Given the description of an element on the screen output the (x, y) to click on. 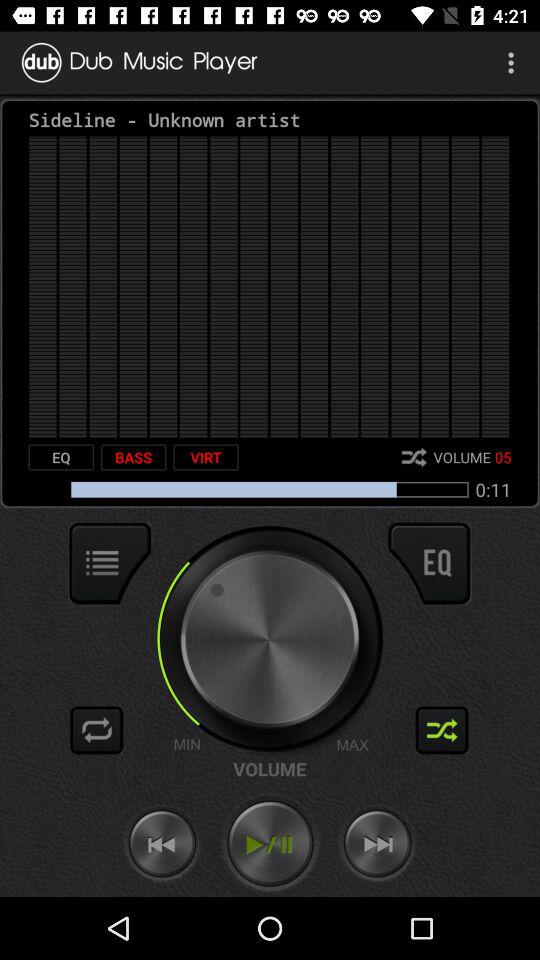
go back (162, 844)
